Given the description of an element on the screen output the (x, y) to click on. 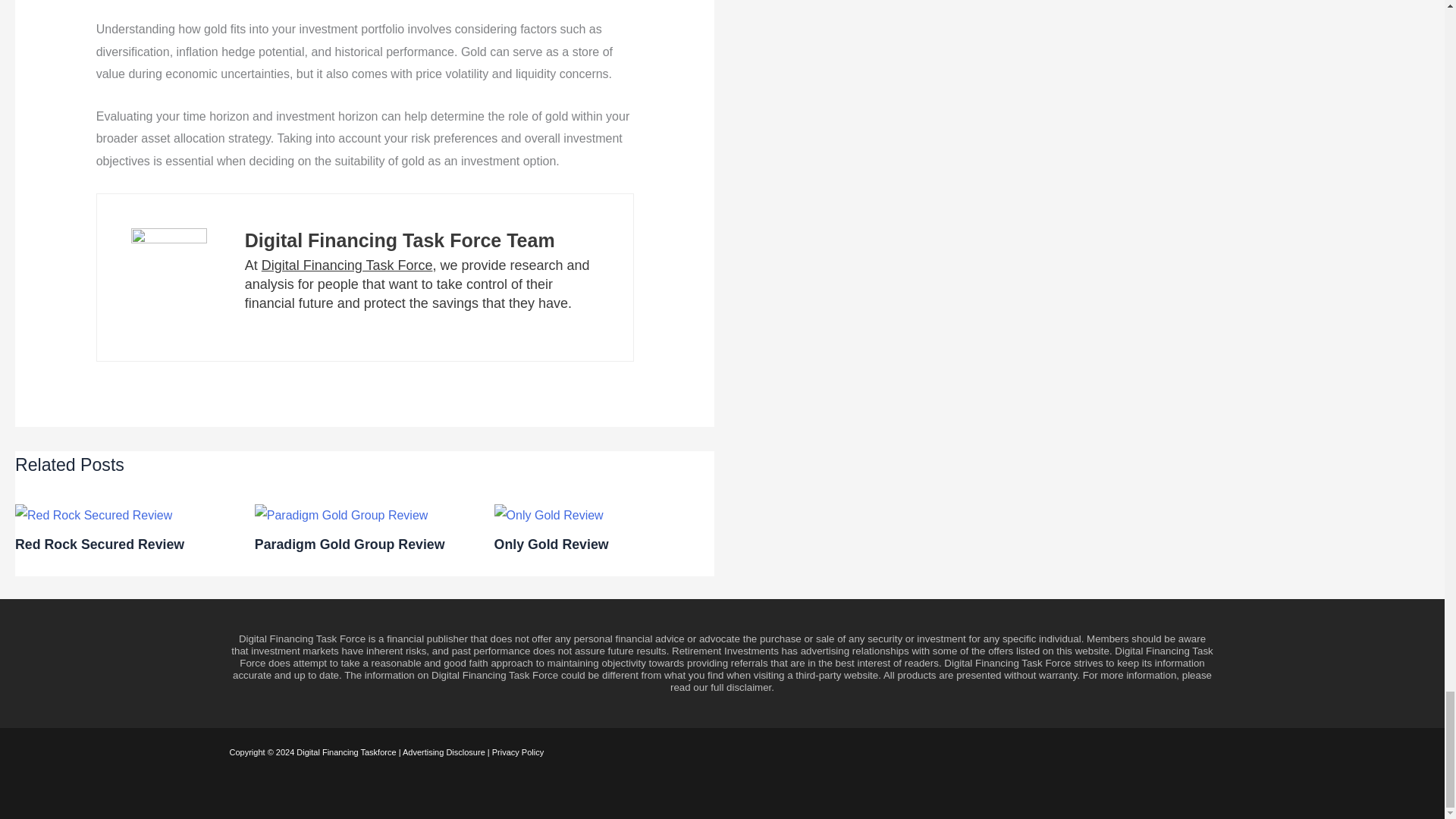
Red Rock Secured Review (99, 544)
Digital Financing Task Force Team (399, 240)
Only Gold Review (551, 544)
Paradigm Gold Group Review (349, 544)
Digital Financing Task Force (347, 264)
